Given the description of an element on the screen output the (x, y) to click on. 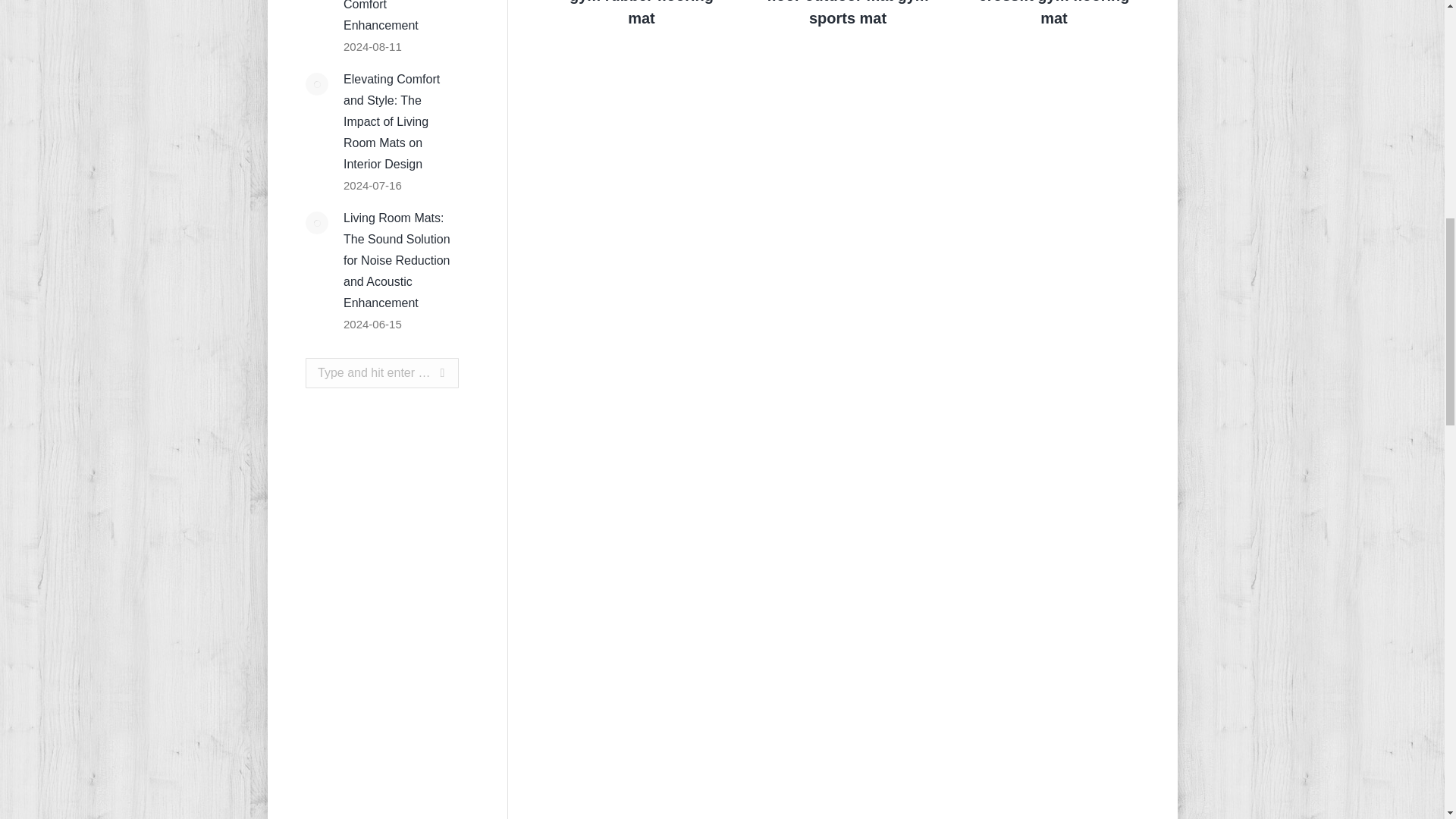
Cheap and high guality gym rubber flooring mat (641, 14)
Go! (428, 372)
Weight room rubber crossfit gym flooring mat (1053, 14)
Kindergarten rubber floor outdoor mat gym sports mat (846, 14)
Go! (428, 372)
